Given the description of an element on the screen output the (x, y) to click on. 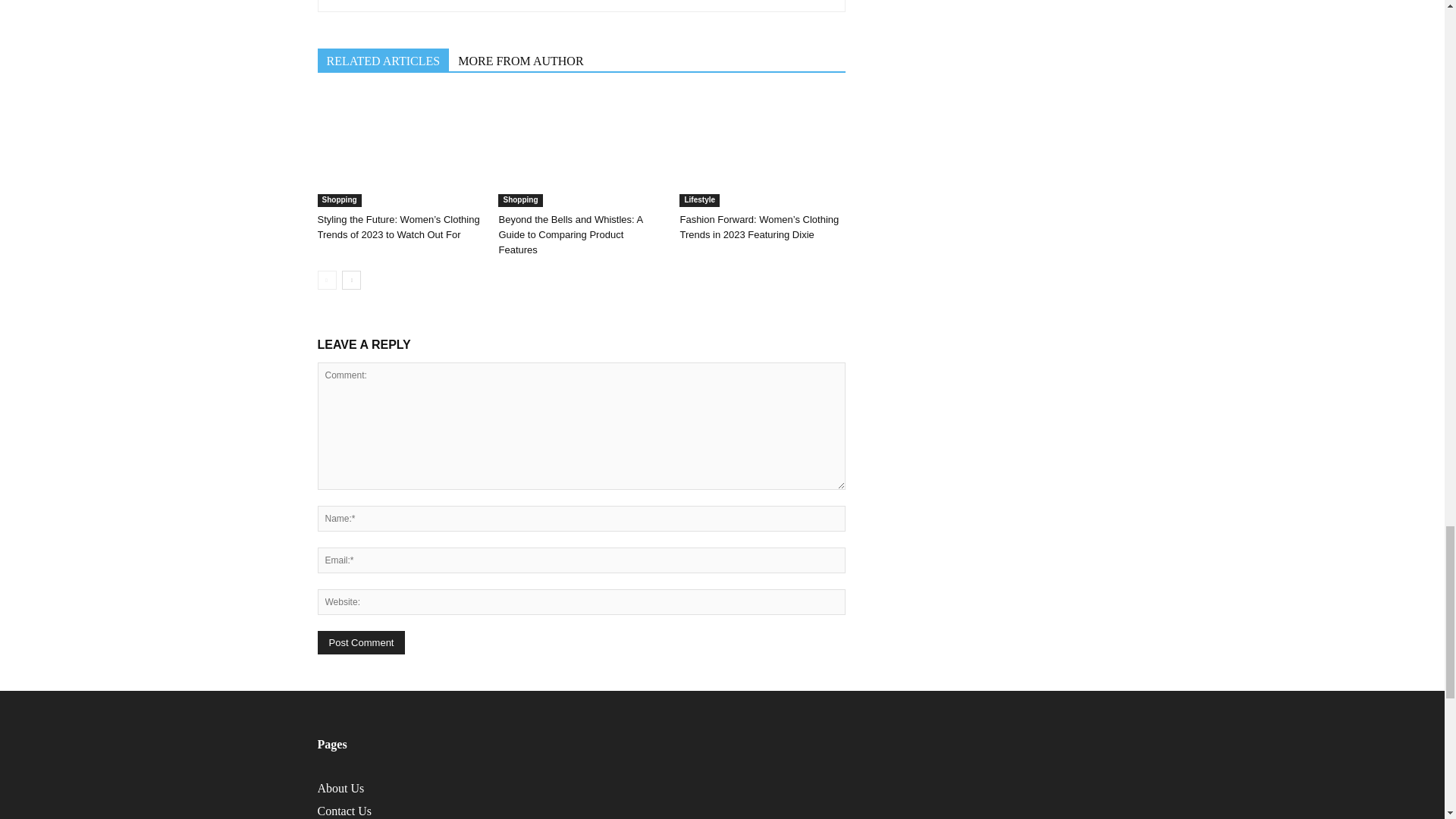
Post Comment (360, 642)
